Given the description of an element on the screen output the (x, y) to click on. 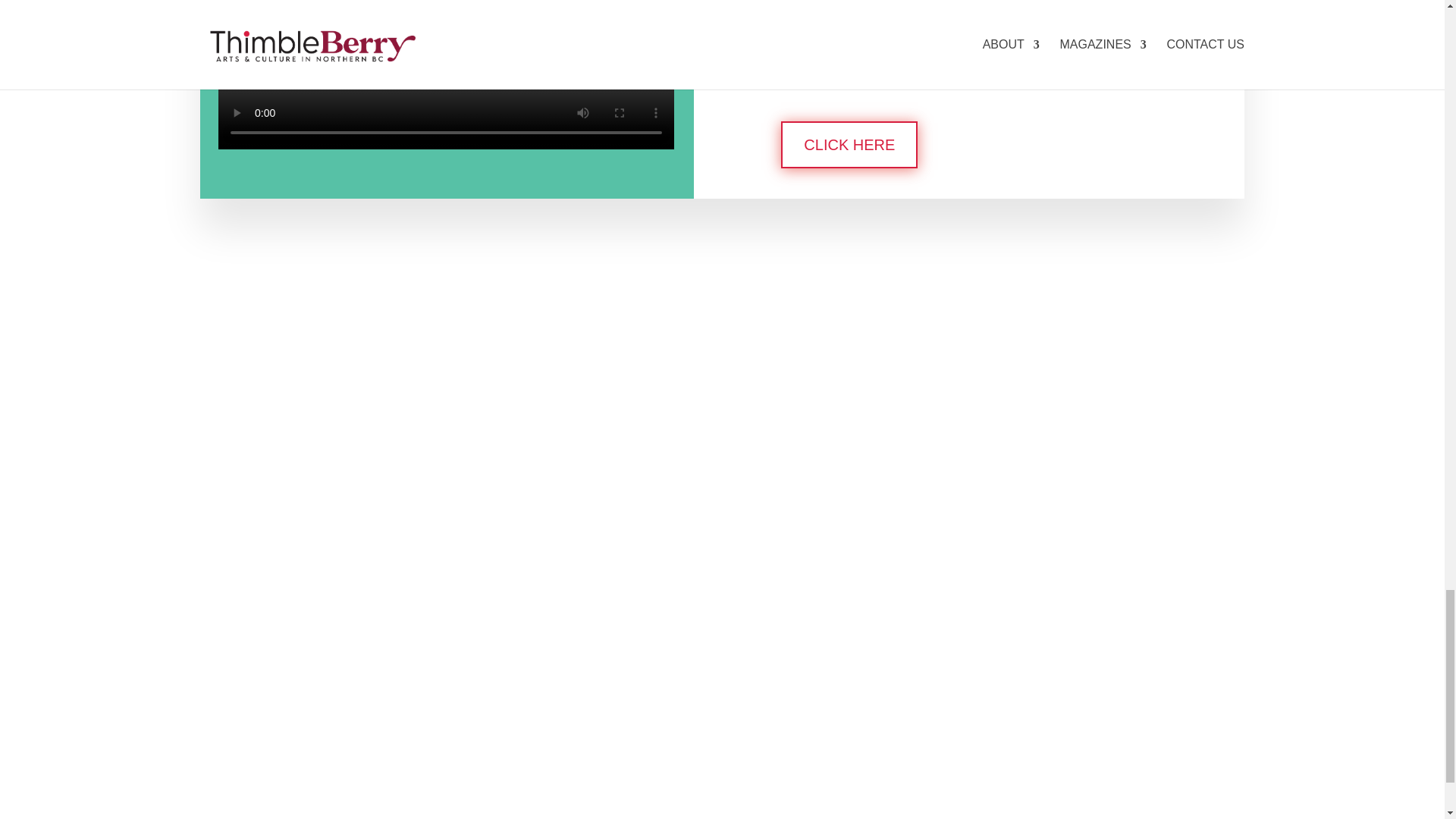
CLICK HERE (848, 144)
